Given the description of an element on the screen output the (x, y) to click on. 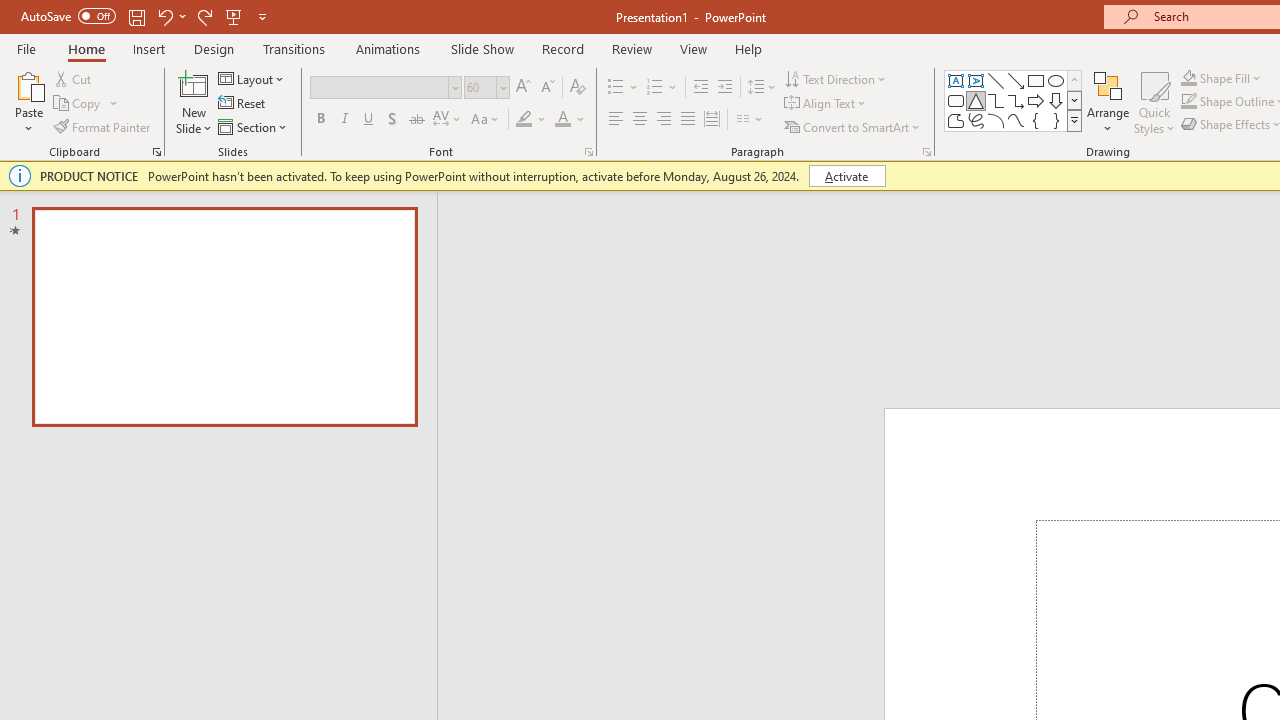
Character Spacing (447, 119)
Shape Outline Dark Red, Accent 1 (1188, 101)
Shape Fill Orange, Accent 2 (1188, 78)
Clear Formatting (577, 87)
Arrow: Right (1035, 100)
AutomationID: ShapesInsertGallery (1014, 100)
